Given the description of an element on the screen output the (x, y) to click on. 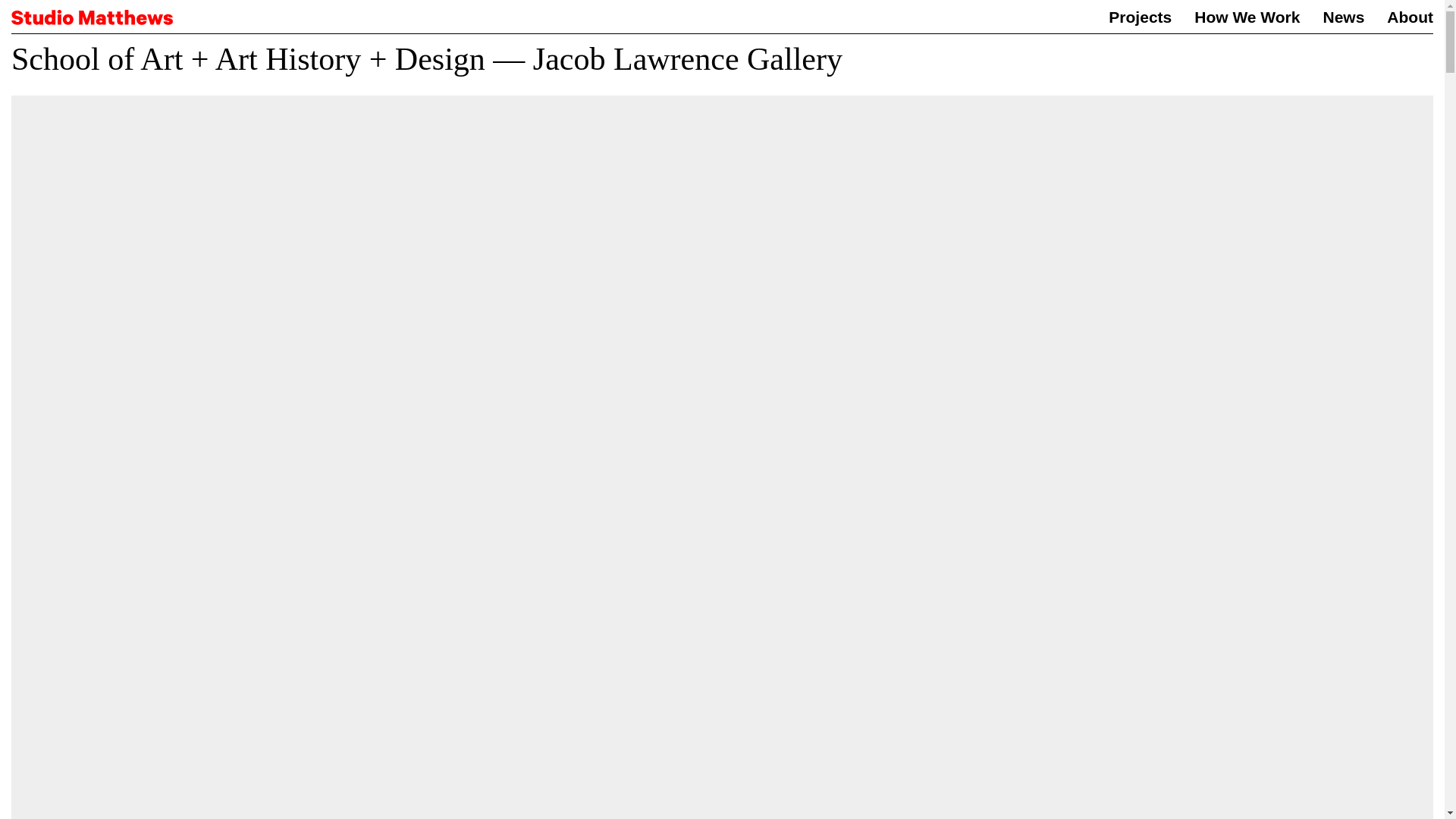
Projects (1140, 17)
About (1409, 17)
How We Work (1246, 17)
Skip to Search Form (30, 37)
Skip to Main Menu (26, 44)
Skip to content (30, 30)
Studio Matthews (92, 19)
News (1343, 17)
